Given the description of an element on the screen output the (x, y) to click on. 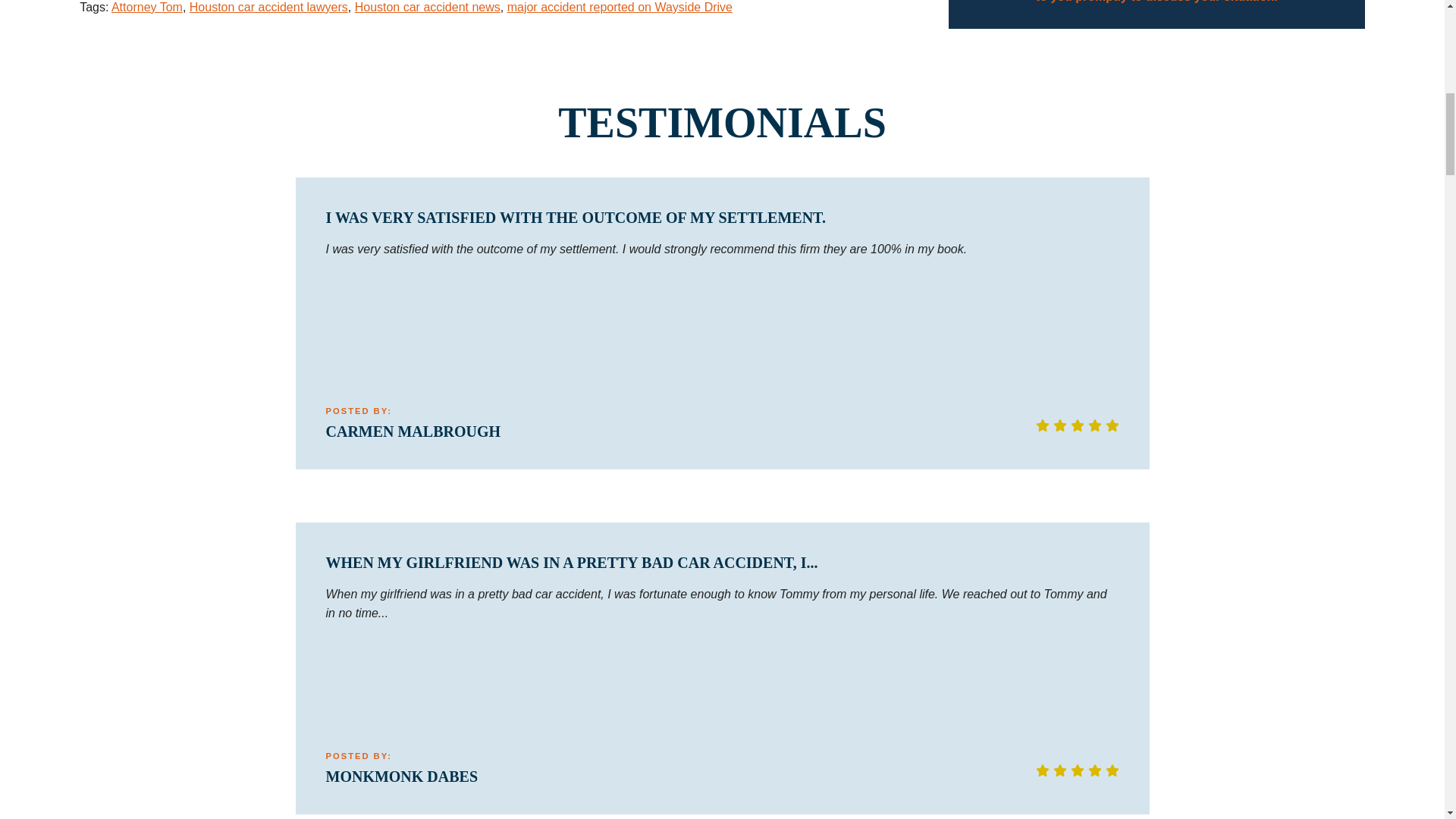
Houston car accident lawyers (268, 6)
major accident reported on Wayside Drive (619, 6)
Attorney Tom (147, 6)
Houston car accident news (427, 6)
